Given the description of an element on the screen output the (x, y) to click on. 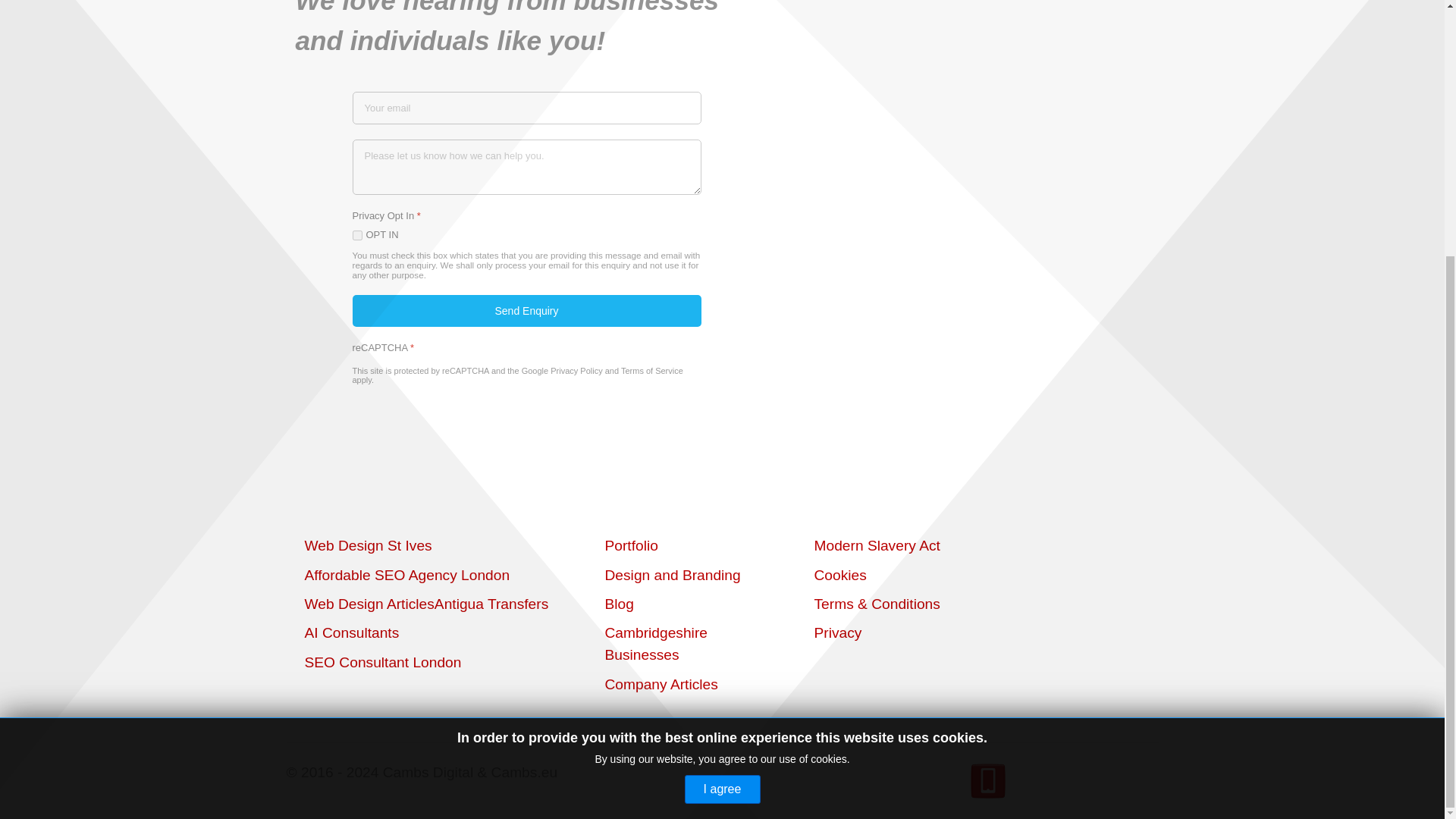
Privacy Policy (576, 370)
Privacy (837, 632)
Portfolio (631, 545)
Web Design St Ives (368, 545)
Cambridgeshire Businesses (656, 643)
SEO Consultant London (382, 662)
Cookies (839, 575)
OPT IN (356, 235)
Antigua Transfers (490, 603)
Modern Slavery Act (876, 545)
Web Design Articles (368, 603)
Antigua Airport Taxi (490, 603)
Affordable SEO Agency London (407, 575)
Design and Branding (673, 575)
Company Articles (661, 684)
